Given the description of an element on the screen output the (x, y) to click on. 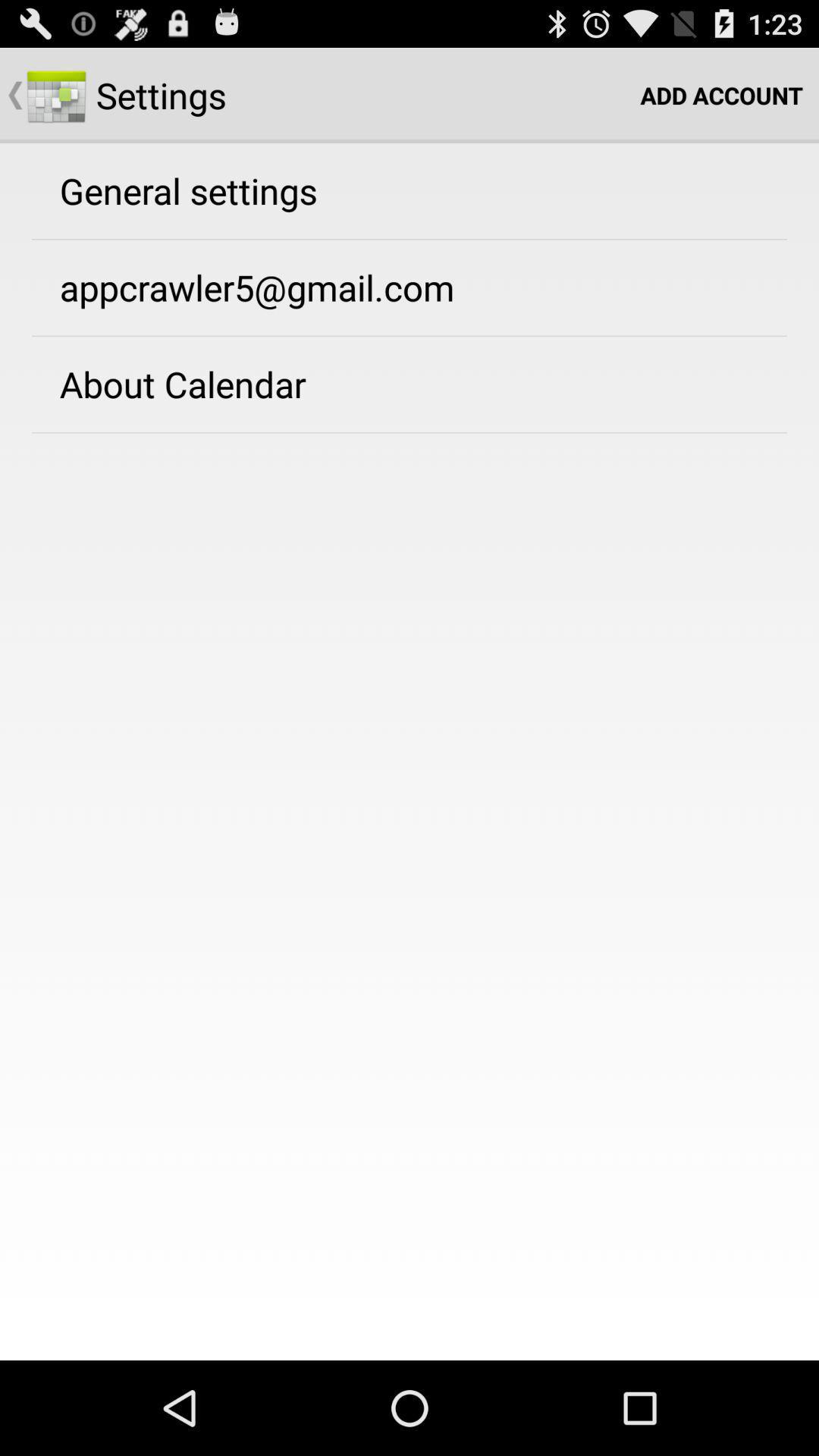
turn off item above the about calendar item (256, 287)
